Given the description of an element on the screen output the (x, y) to click on. 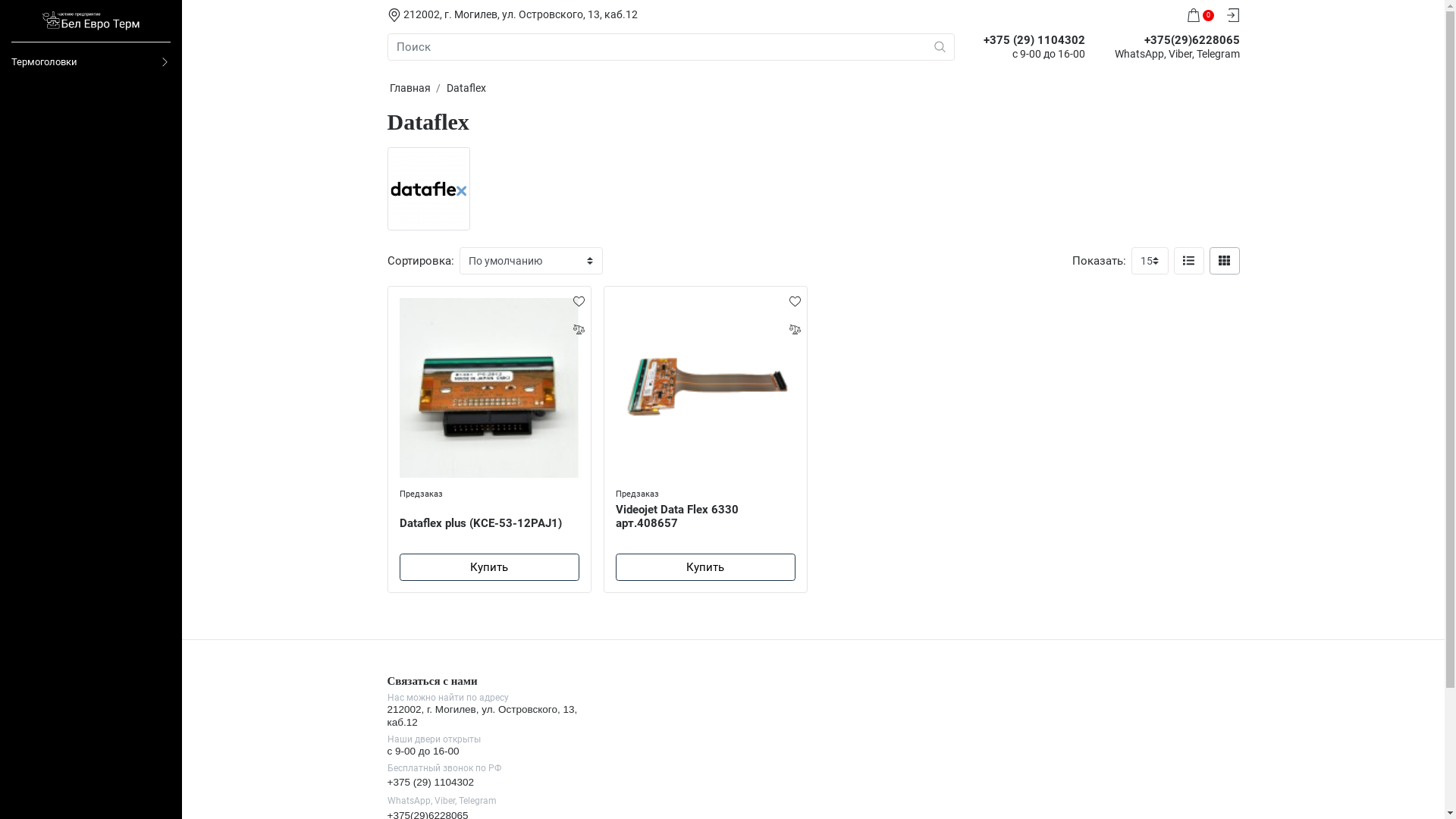
+375 (29) 1104302 Element type: text (1034, 40)
Dataflex Element type: hover (428, 188)
+375 (29) 1104302 Element type: text (429, 782)
0 Element type: text (1199, 15)
Dataflex plus (KCE-53-12PAJ1) Element type: text (488, 523)
